Given the description of an element on the screen output the (x, y) to click on. 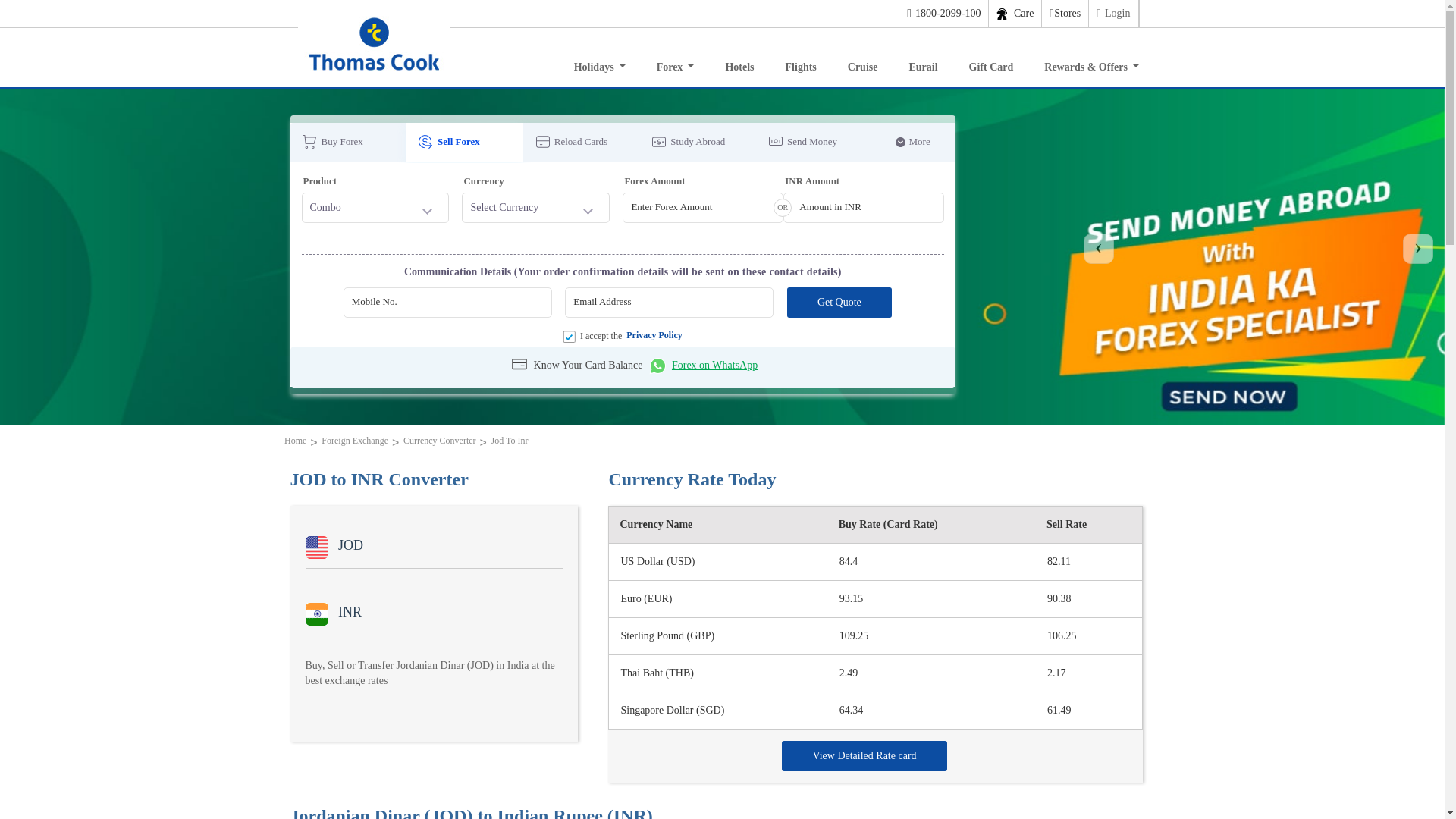
1800-2099-100 (943, 13)
Login (1112, 13)
Holidays (599, 63)
Stores (1064, 13)
Care (1014, 13)
